Given the description of an element on the screen output the (x, y) to click on. 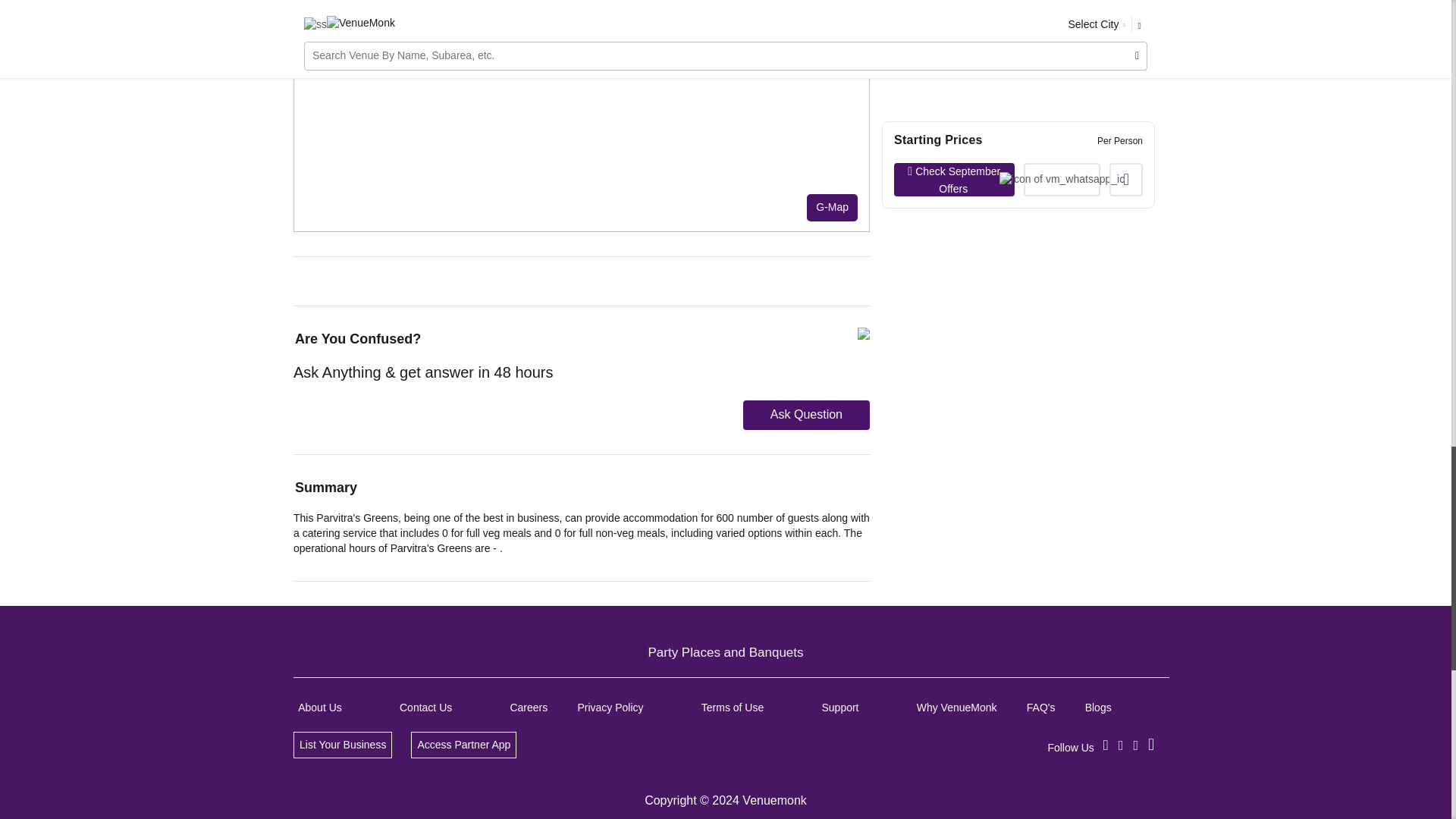
List Your Business (342, 745)
Ask Question (805, 414)
G-Map (831, 207)
Access Partner App (463, 745)
